Given the description of an element on the screen output the (x, y) to click on. 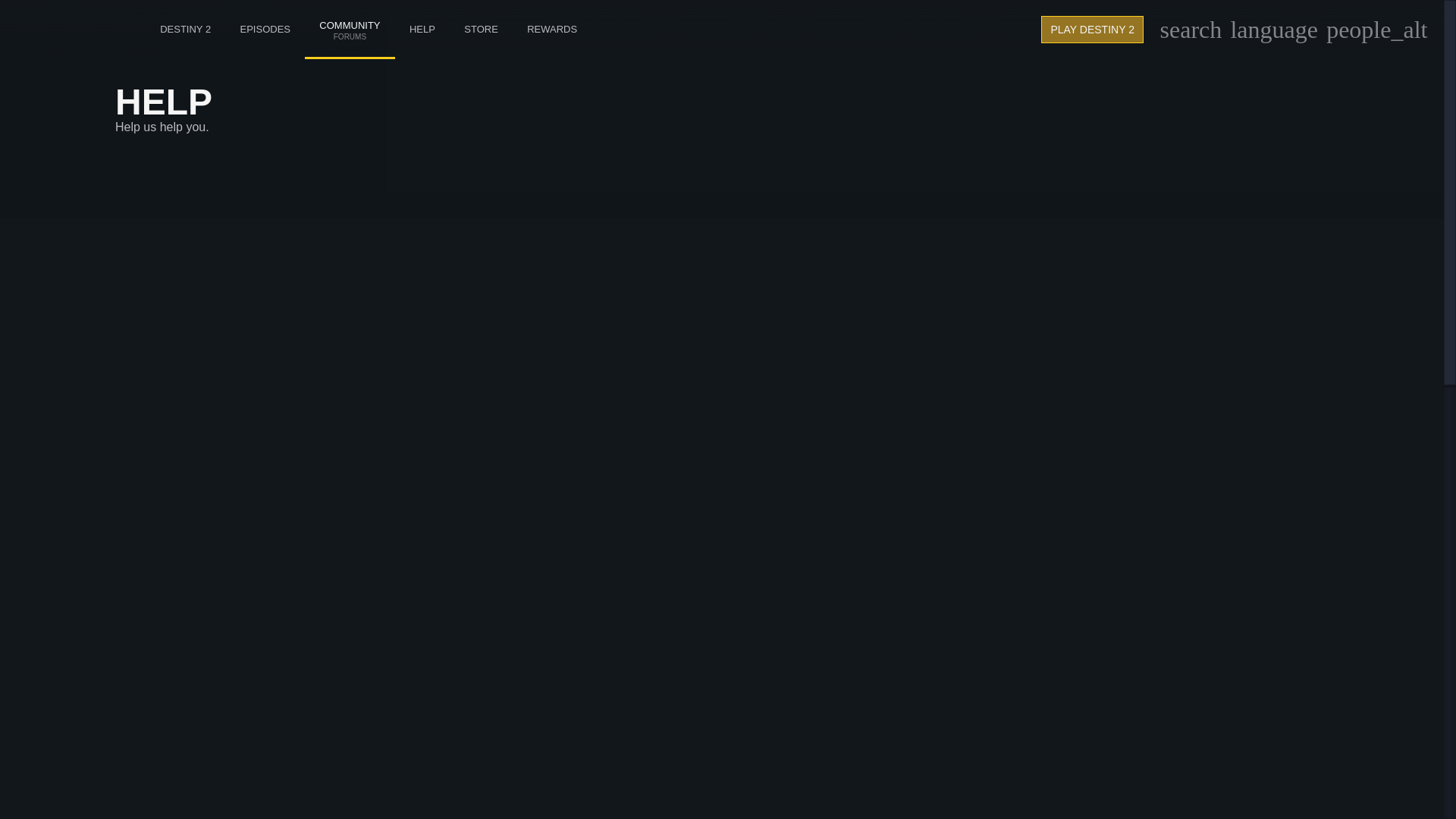
STORE (480, 29)
Destiny (65, 29)
PLAY DESTINY 2 (1091, 29)
HELP (421, 29)
DESTINY 2 (185, 29)
EPISODES (264, 29)
REWARDS (349, 13)
